Given the description of an element on the screen output the (x, y) to click on. 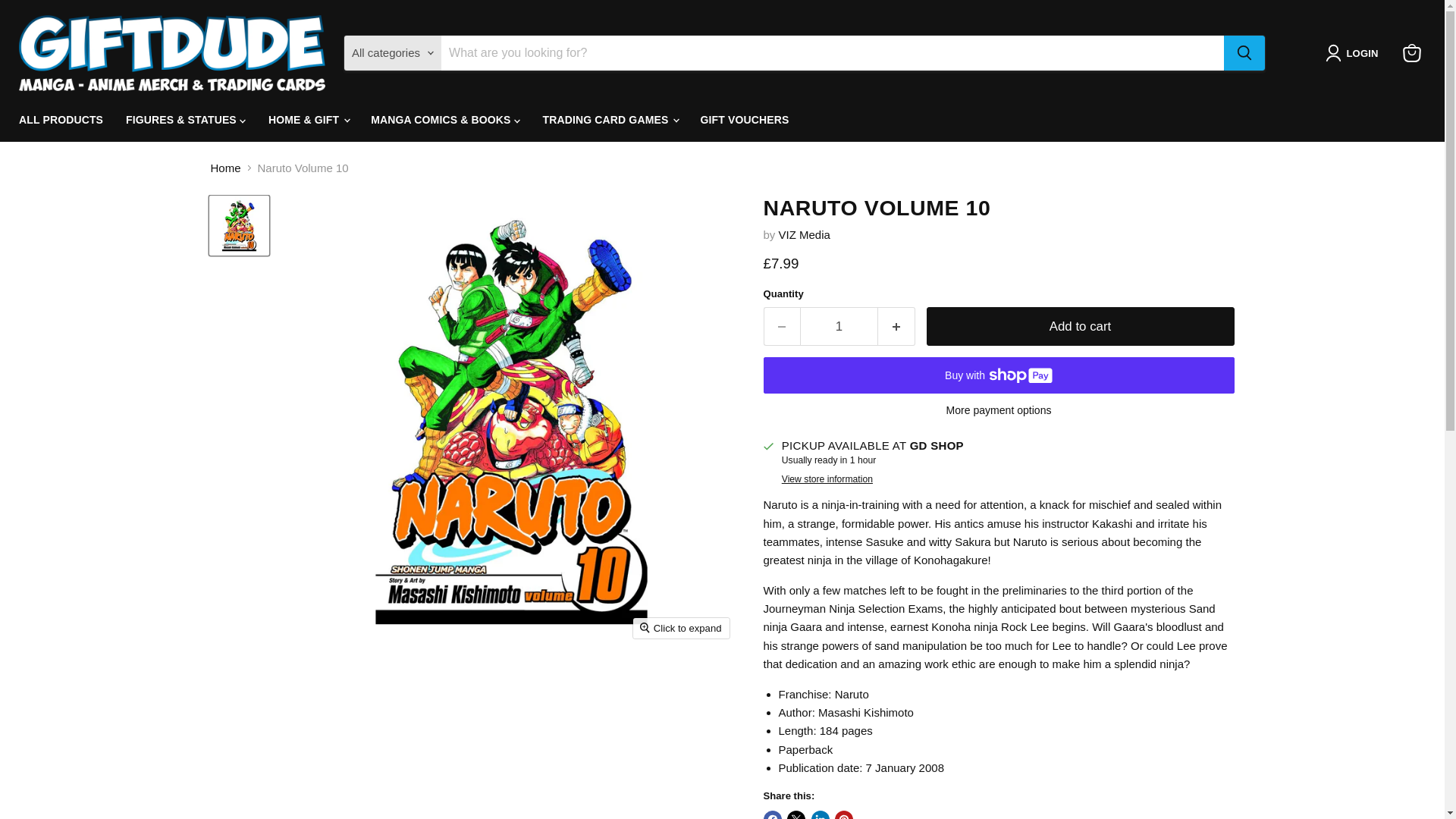
ALL PRODUCTS (61, 119)
1 (838, 326)
View cart (1411, 52)
LOGIN (1354, 53)
VIZ Media (803, 234)
